Given the description of an element on the screen output the (x, y) to click on. 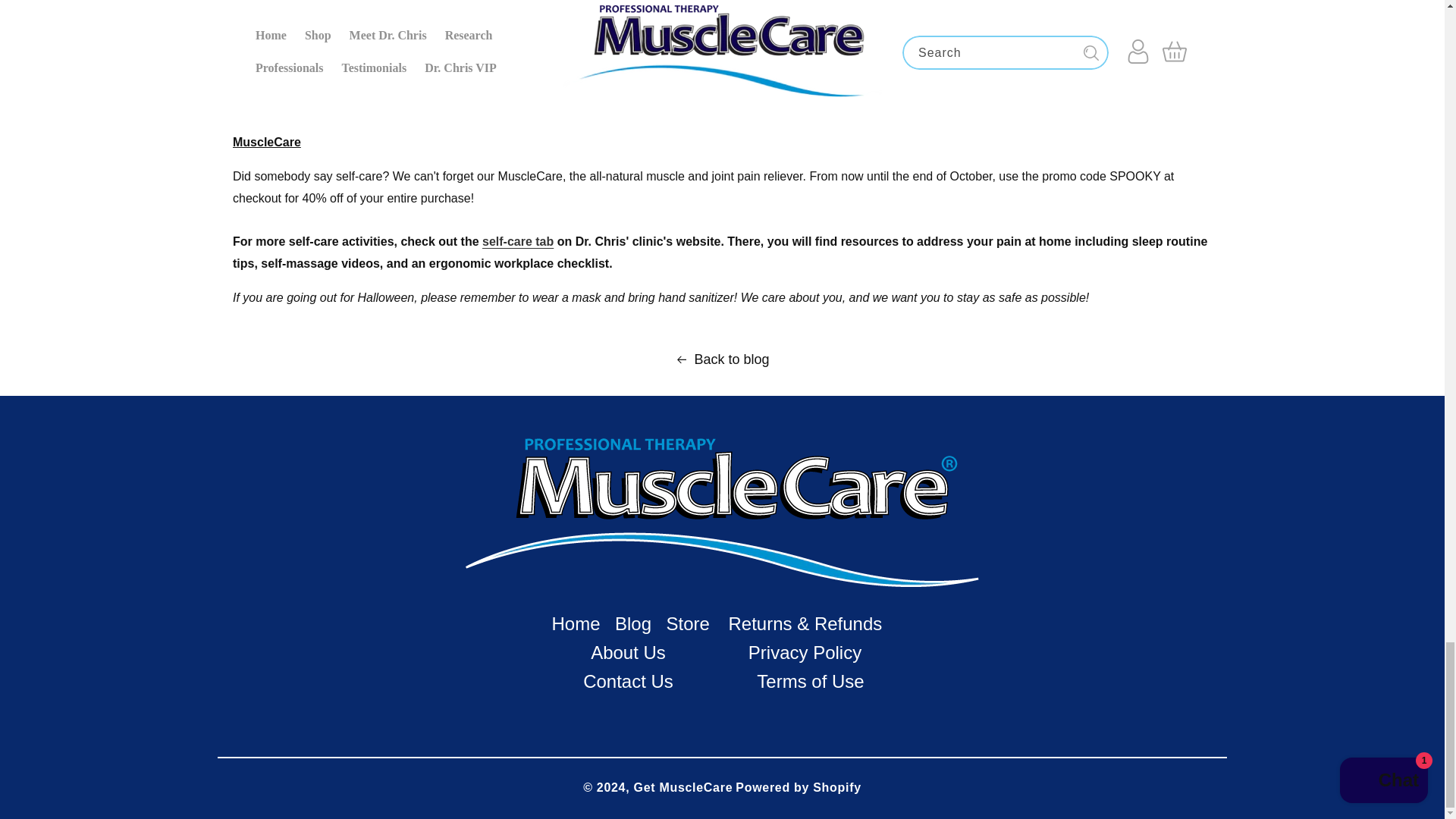
self-care tab (517, 241)
